Given the description of an element on the screen output the (x, y) to click on. 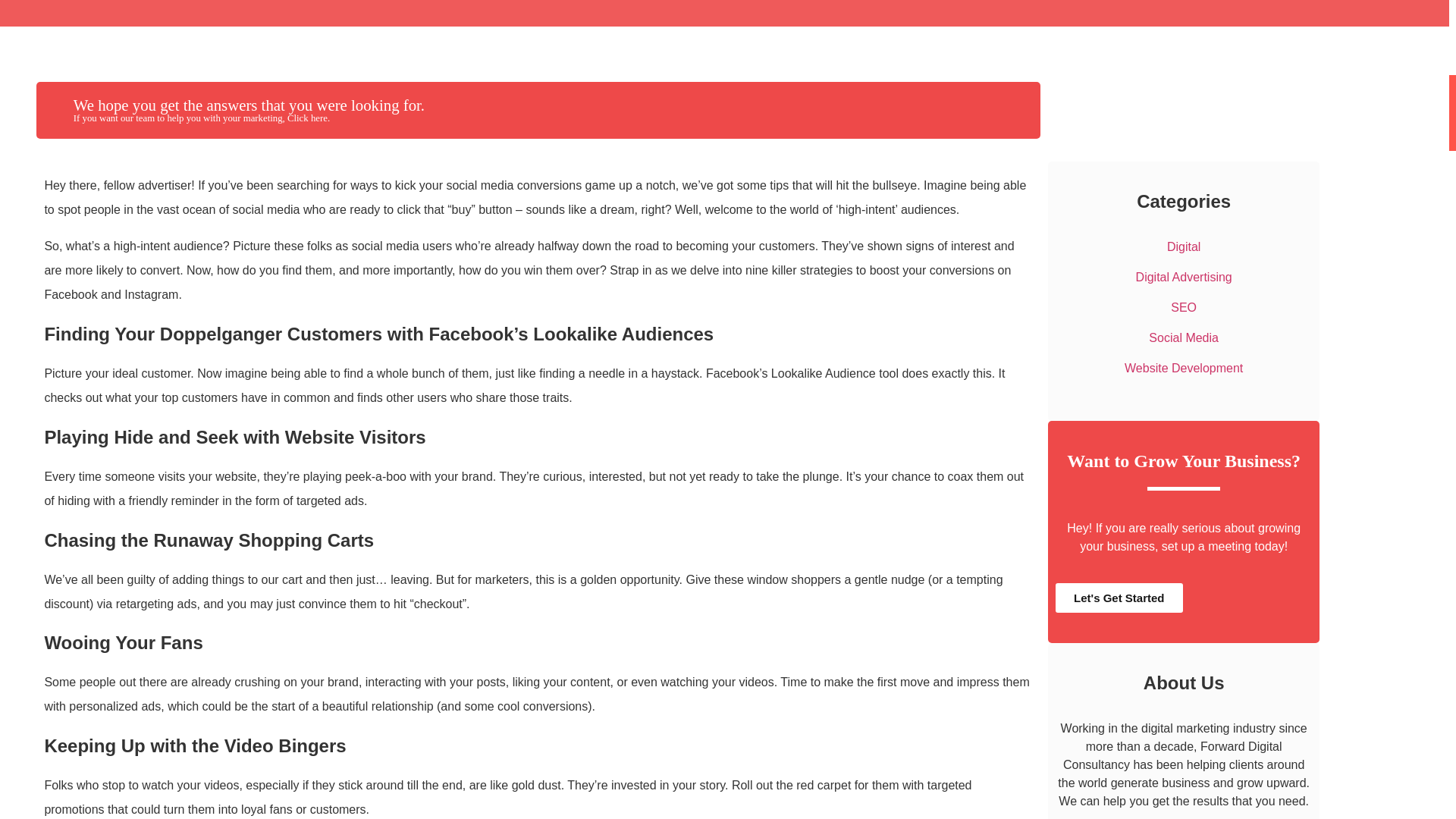
Click here (306, 118)
SEO (1183, 307)
Website Development (1183, 367)
Digital Advertising (1183, 277)
Let's Get Started (1118, 597)
Social Media (1183, 337)
Digital (1183, 246)
